Given the description of an element on the screen output the (x, y) to click on. 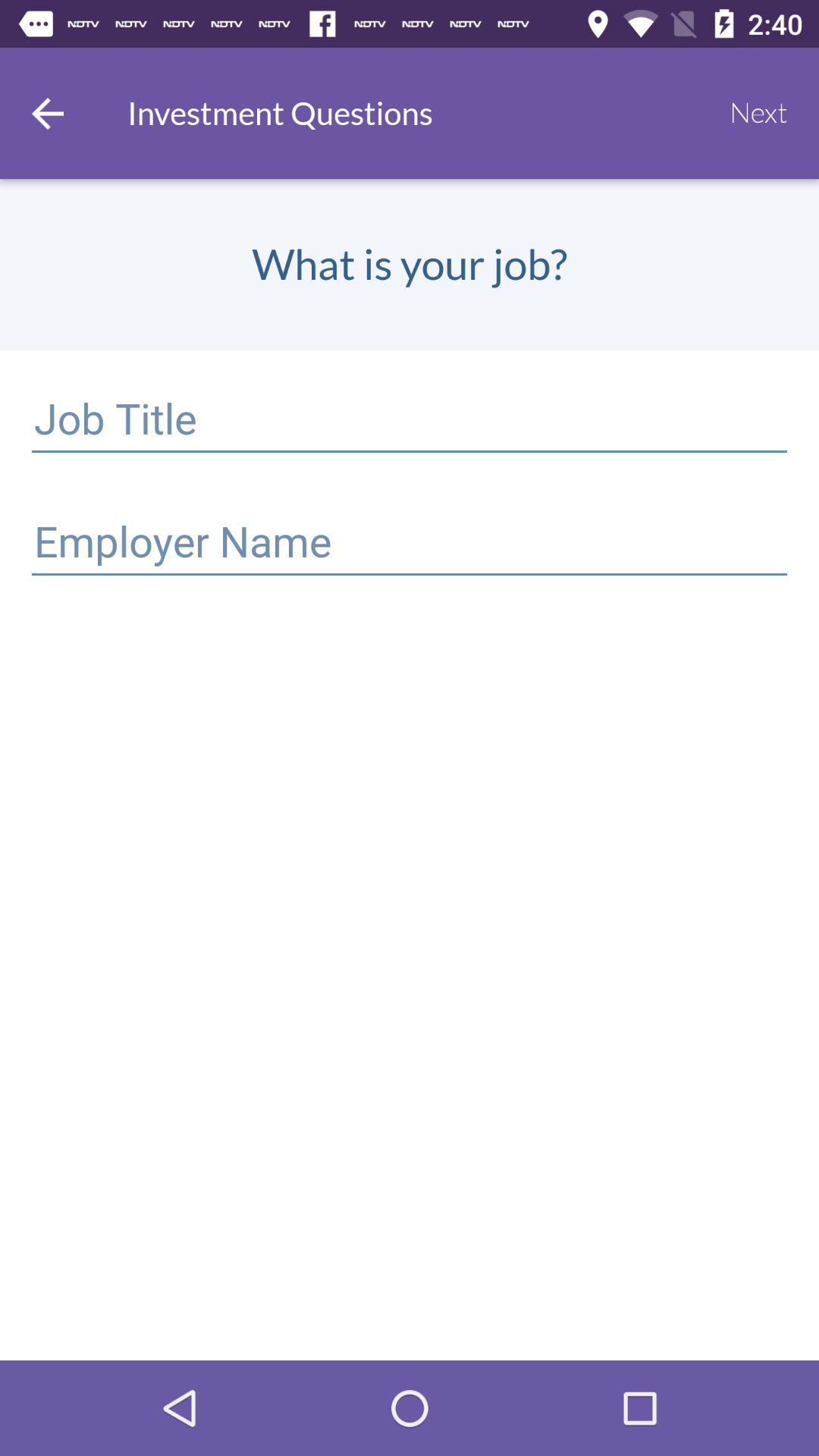
save name (409, 544)
